Given the description of an element on the screen output the (x, y) to click on. 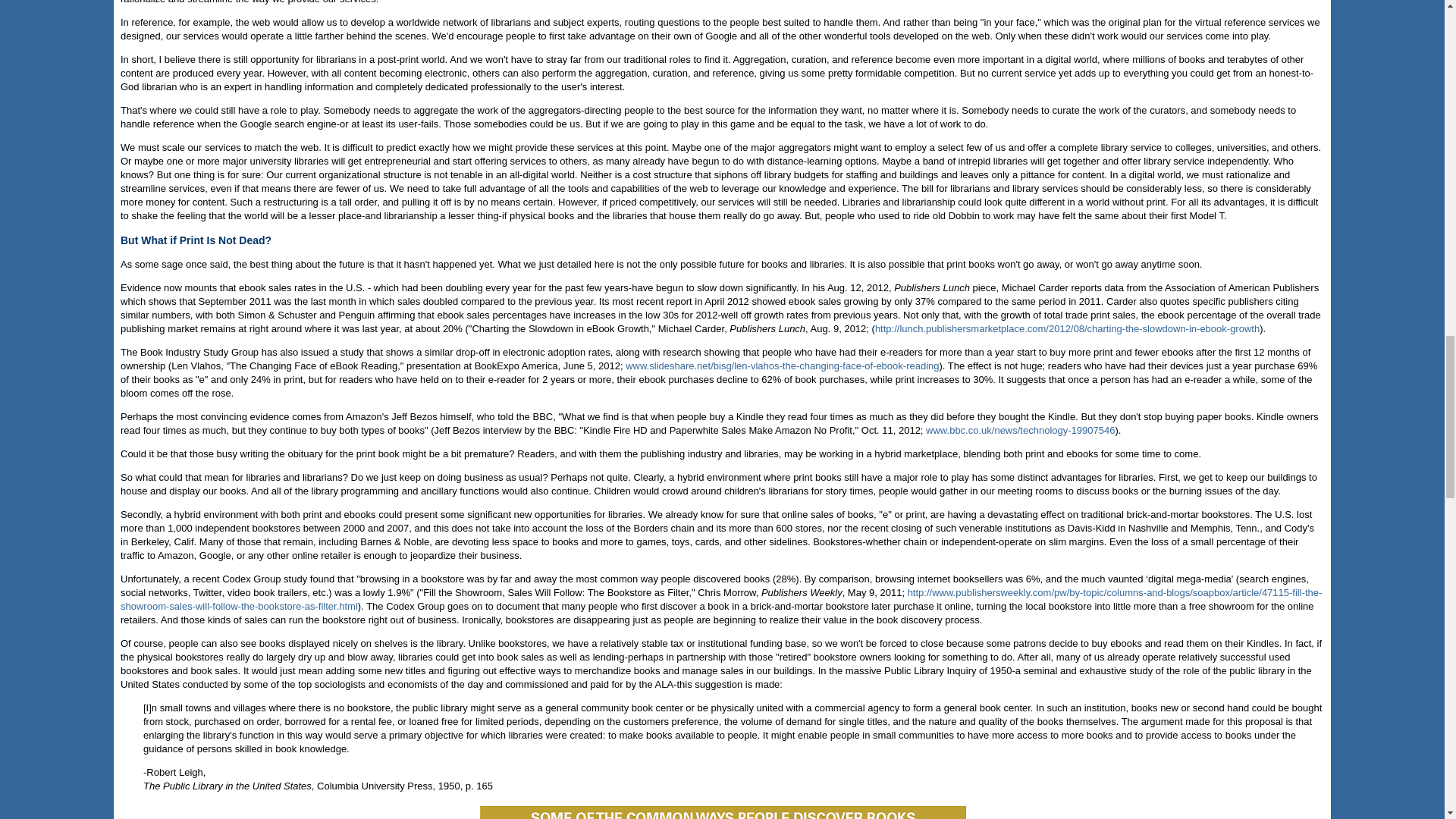
Some of the common ways people discover books (722, 810)
